Given the description of an element on the screen output the (x, y) to click on. 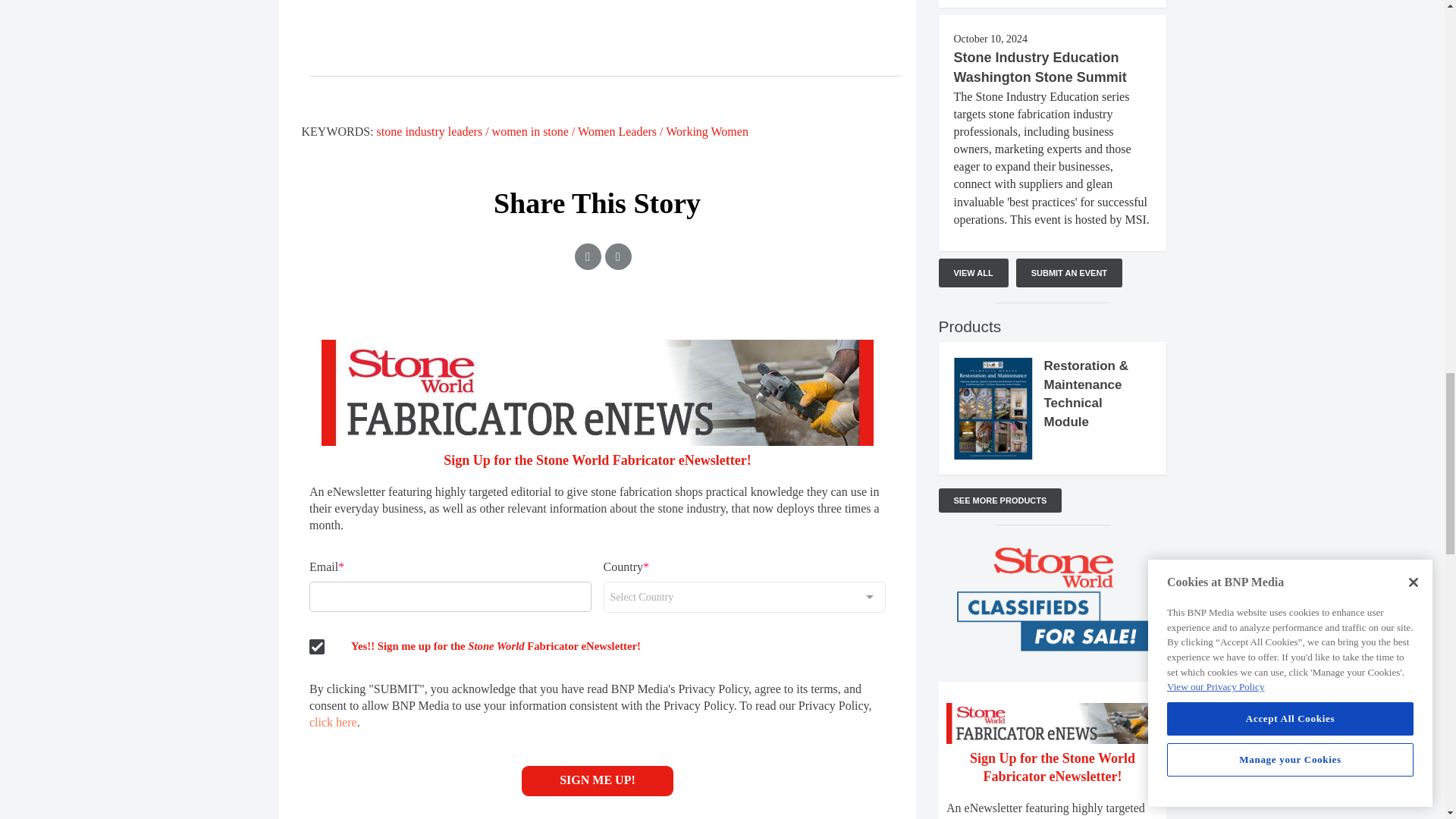
Stone Industry Education Washington Stone Summit (1039, 67)
Interaction questions (1052, 750)
